Given the description of an element on the screen output the (x, y) to click on. 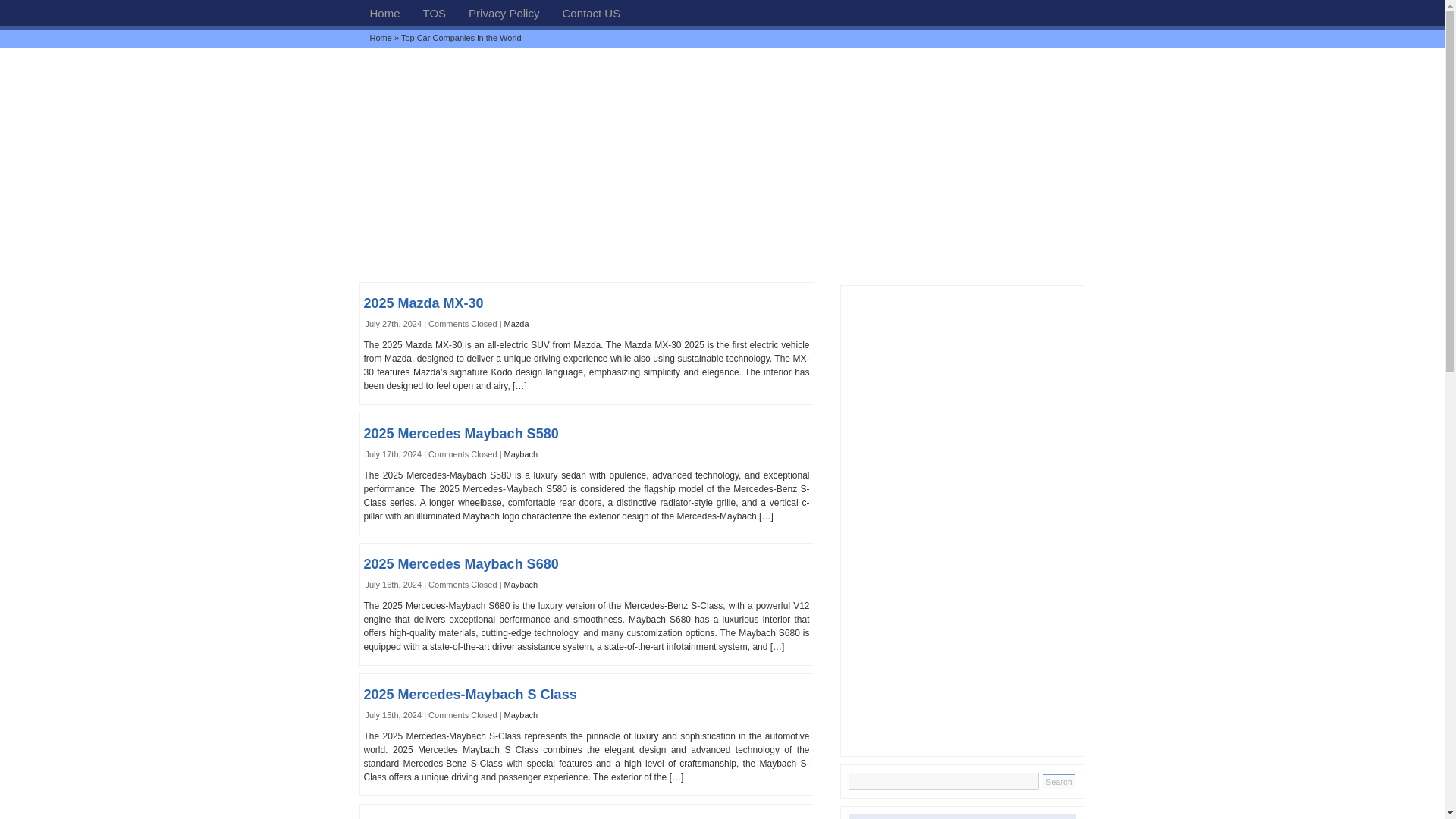
2025 Mercedes-Maybach S Class (470, 694)
Home (380, 37)
2025 Mazda MX-30 (423, 303)
Mazda (516, 323)
Maybach (520, 453)
Search (1058, 781)
2025 Mercedes Maybach S580 (461, 433)
Privacy Policy (503, 12)
GTOPCARS.COM (384, 12)
2025 Mercedes-Maybach S Class (470, 694)
2025 Mercedes Maybach S680 (461, 563)
GTOPCARS.COM (380, 37)
TOS (435, 12)
